Given the description of an element on the screen output the (x, y) to click on. 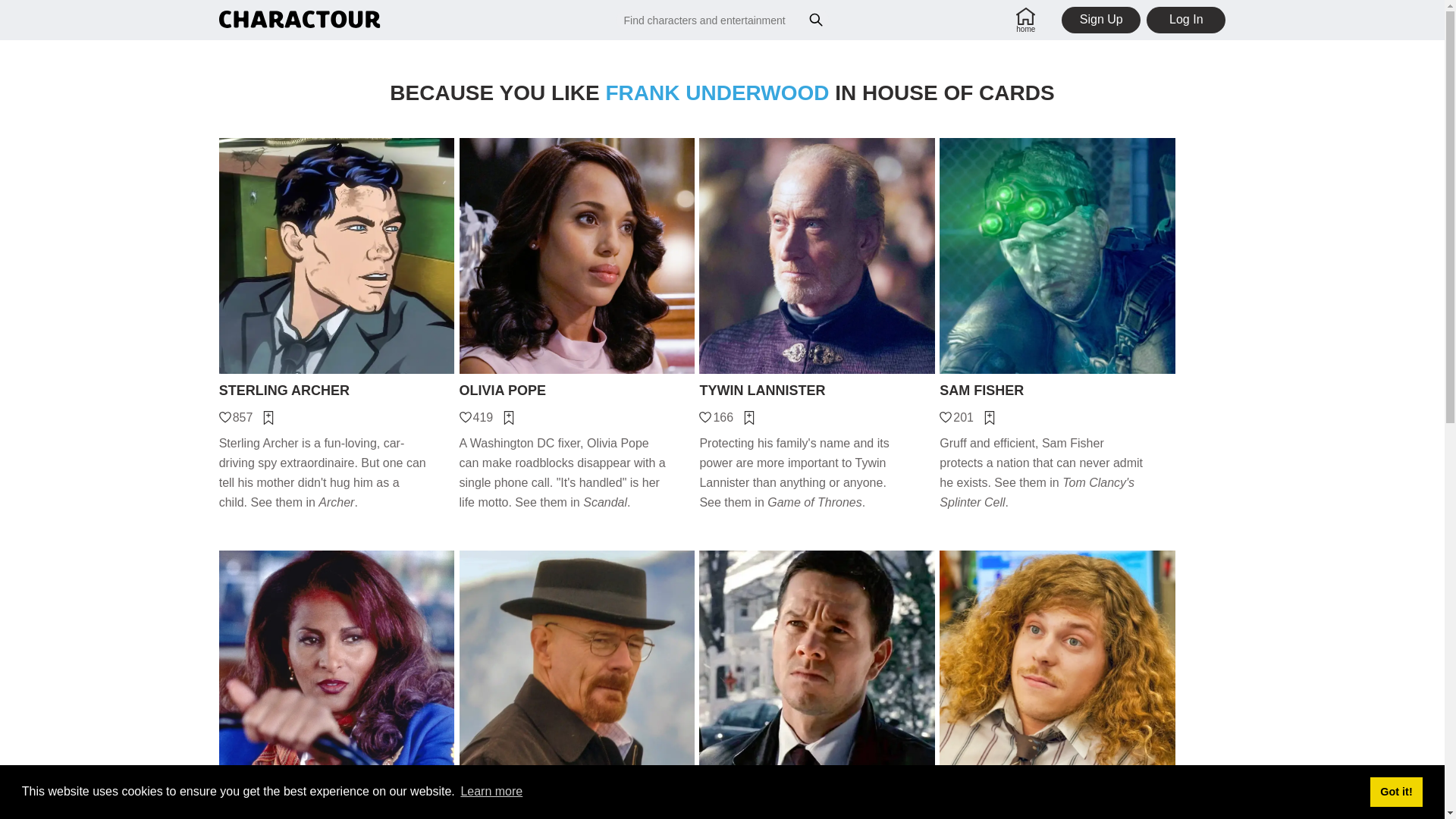
SAM FISHER (1056, 390)
FRANK UNDERWOOD (717, 92)
BLAKE HENDERSON (1056, 803)
Learn more (491, 791)
WALTER WHITE (577, 803)
TYWIN LANNISTER (816, 390)
Log In (1186, 19)
OLIVIA POPE (577, 390)
Sign Up (1100, 19)
MAX PAYNE (816, 803)
